Given the description of an element on the screen output the (x, y) to click on. 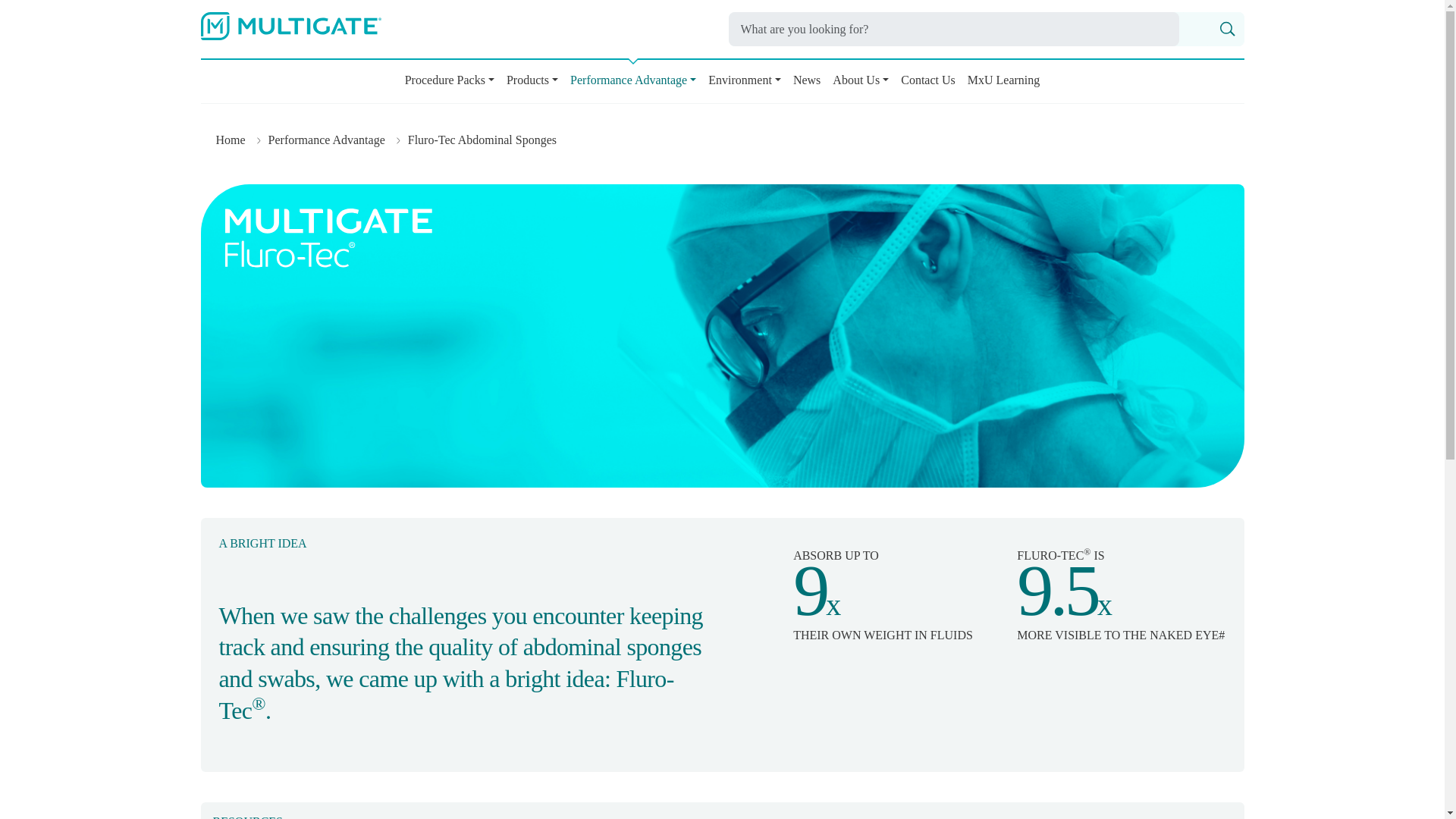
Performance Advantage (632, 83)
Products (532, 83)
Procedure Packs (449, 83)
